Given the description of an element on the screen output the (x, y) to click on. 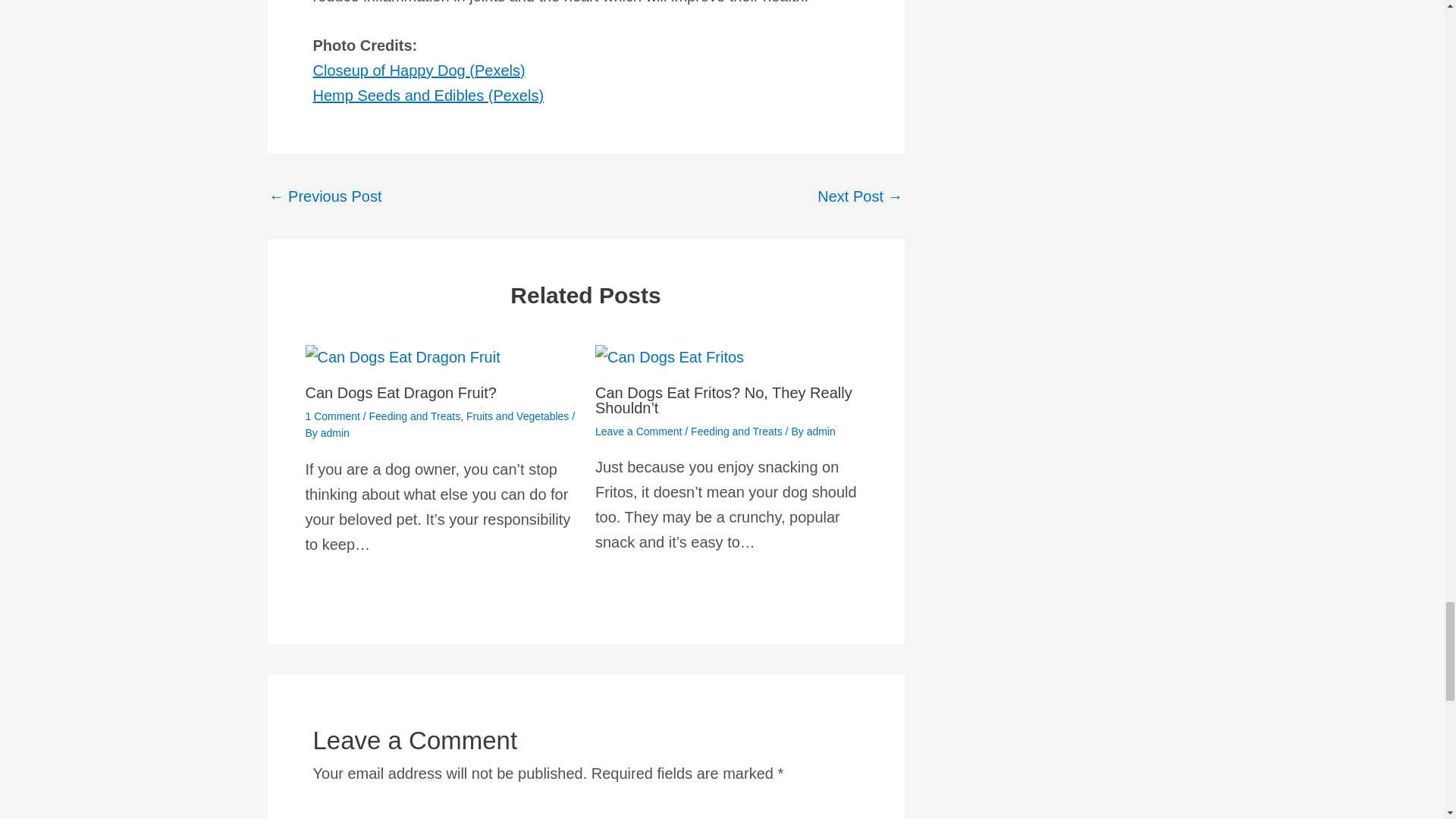
Can Dogs Eat Crab? Let's Take a Look (324, 196)
Fruits and Vegetables (517, 416)
View all posts by admin (820, 431)
View all posts by admin (334, 432)
admin (334, 432)
Can Dogs Eat Dragon Fruit? (400, 392)
1 Comment (331, 416)
Feeding and Treats (415, 416)
